Given the description of an element on the screen output the (x, y) to click on. 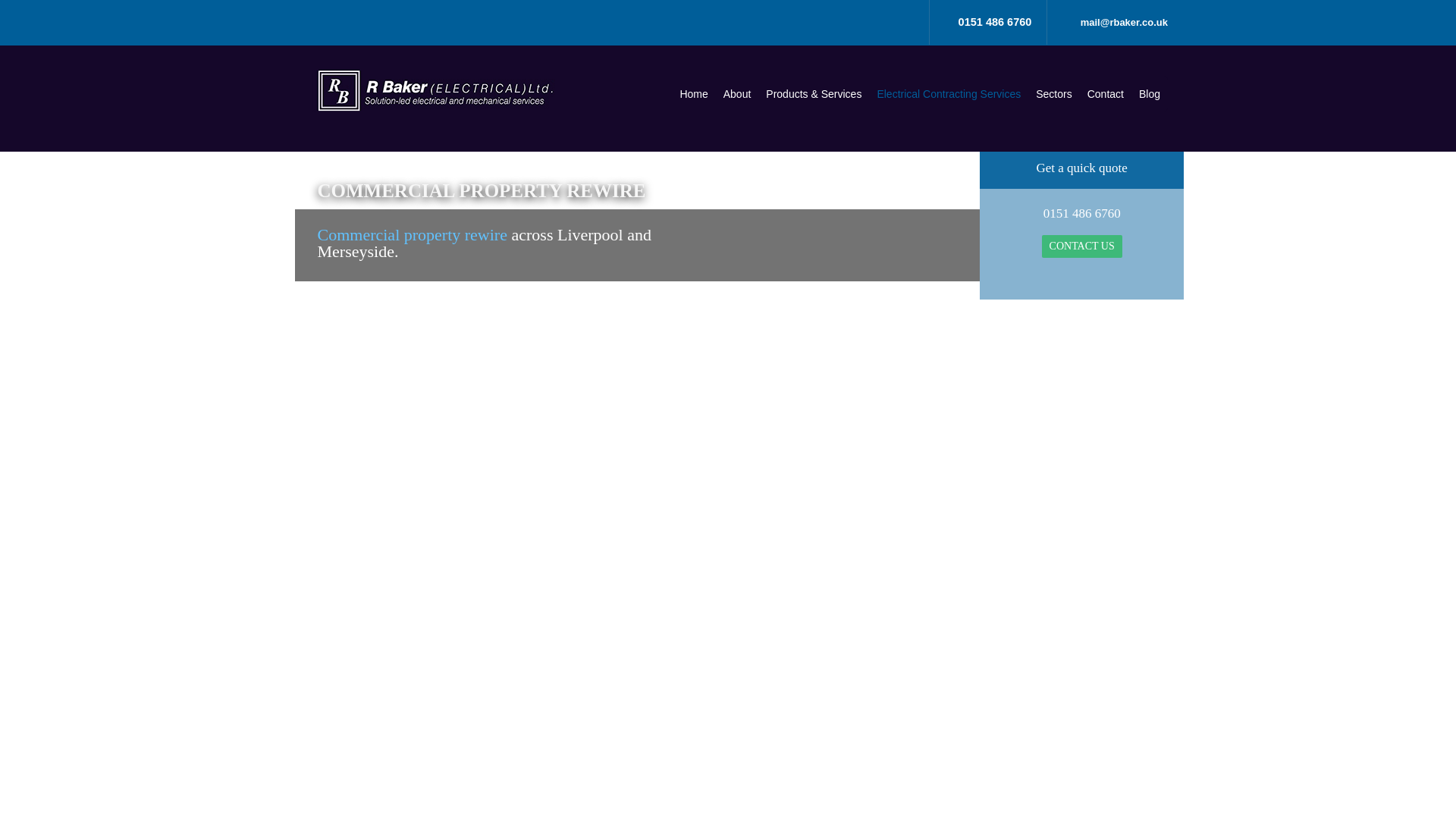
Home (692, 93)
About (737, 93)
0151 486 6760 (995, 21)
